Given the description of an element on the screen output the (x, y) to click on. 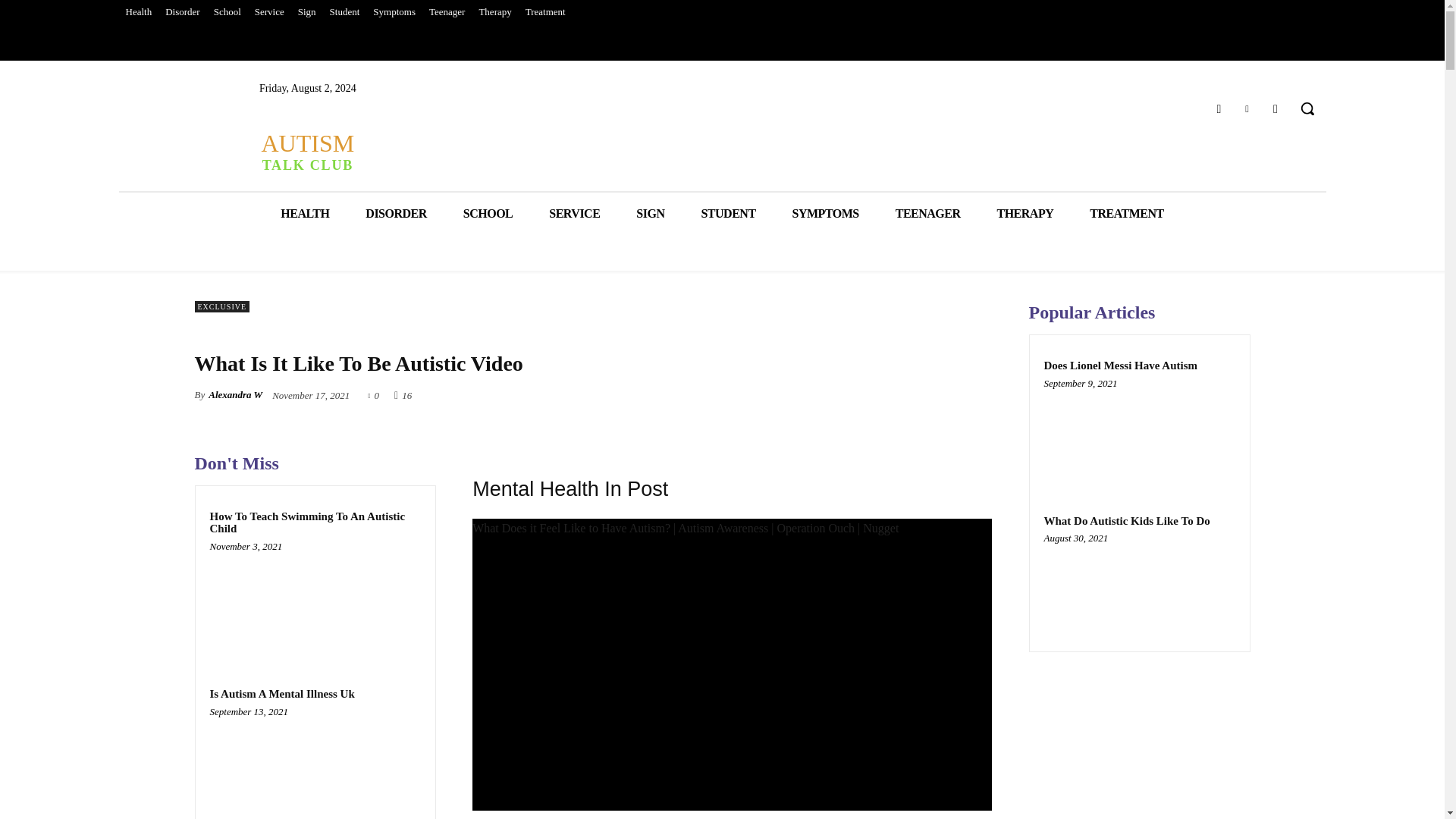
Youtube (1275, 108)
DISORDER (395, 213)
How To Teach Swimming To An Autistic Child (306, 522)
How To Teach Swimming To An Autistic Child (314, 602)
Sign (307, 12)
Health (137, 12)
Is Autism A Mental Illness Uk (314, 766)
Symptoms (394, 12)
HEALTH (304, 213)
Therapy (494, 12)
School (226, 12)
Student (344, 12)
Is Autism A Mental Illness Uk (281, 693)
Treatment (545, 12)
Facebook (1218, 108)
